Given the description of an element on the screen output the (x, y) to click on. 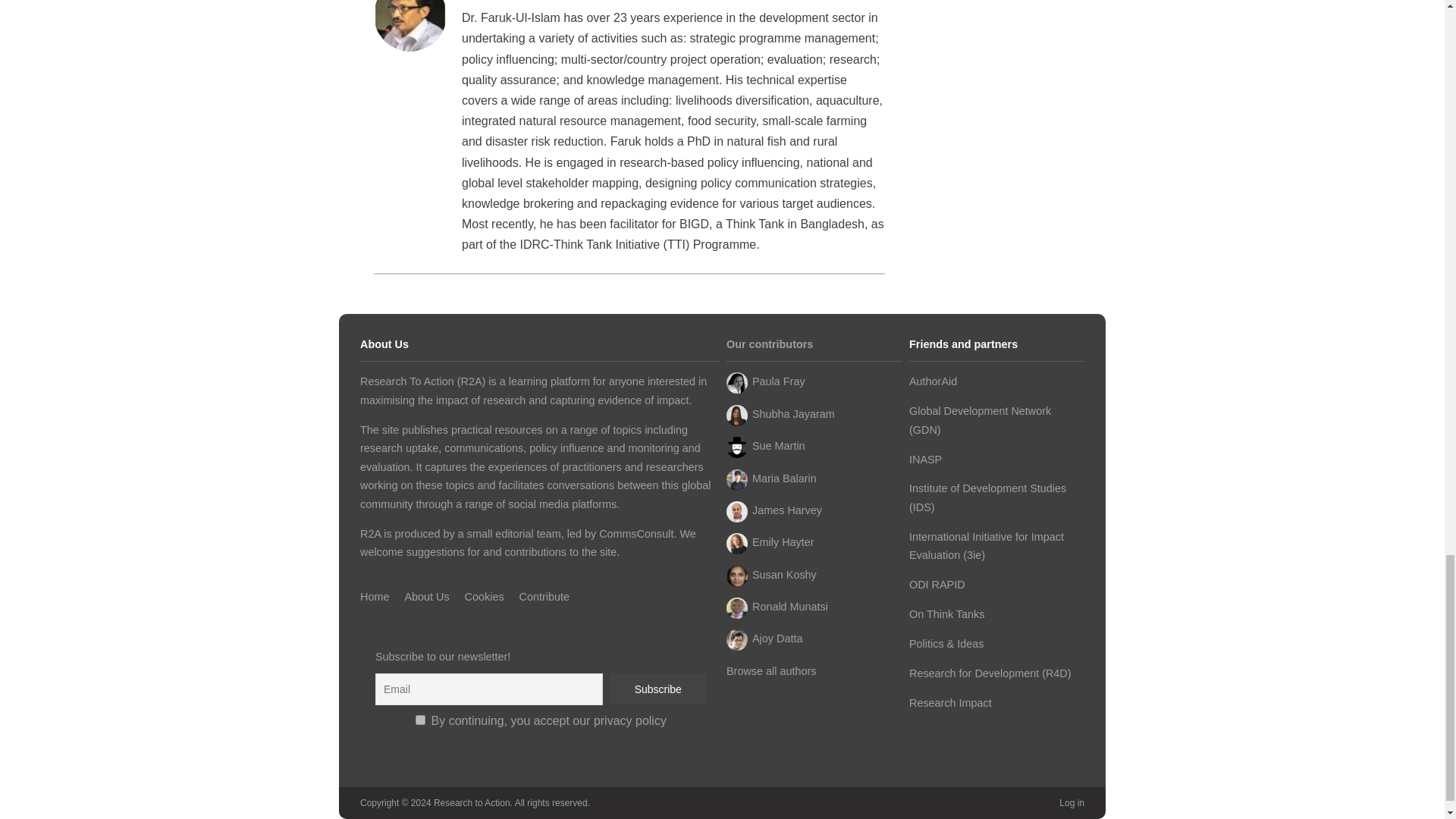
on (419, 719)
Subscribe (658, 689)
